Given the description of an element on the screen output the (x, y) to click on. 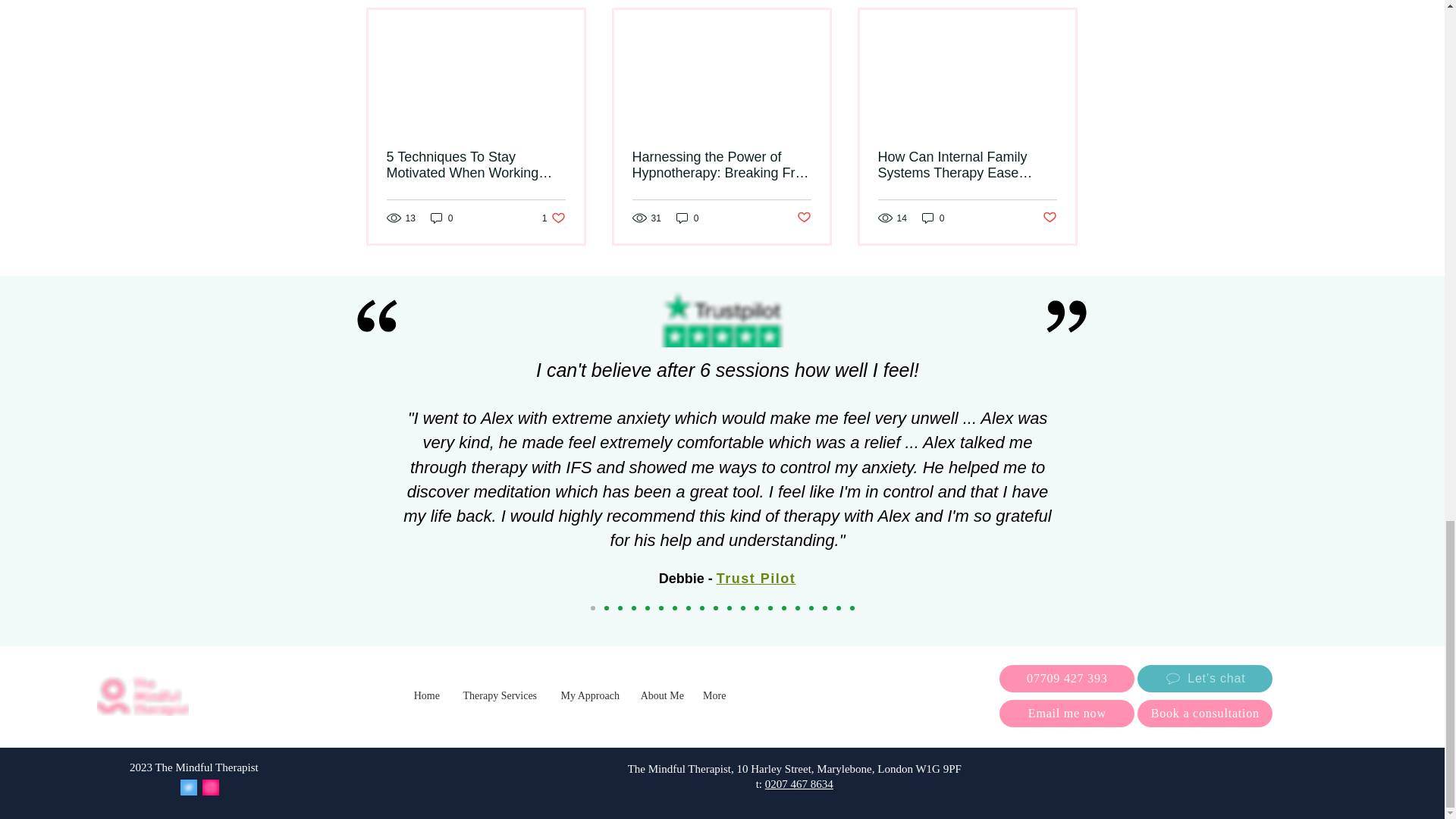
5 Techniques To Stay Motivated When Working From Home (476, 164)
0 (441, 217)
